Given the description of an element on the screen output the (x, y) to click on. 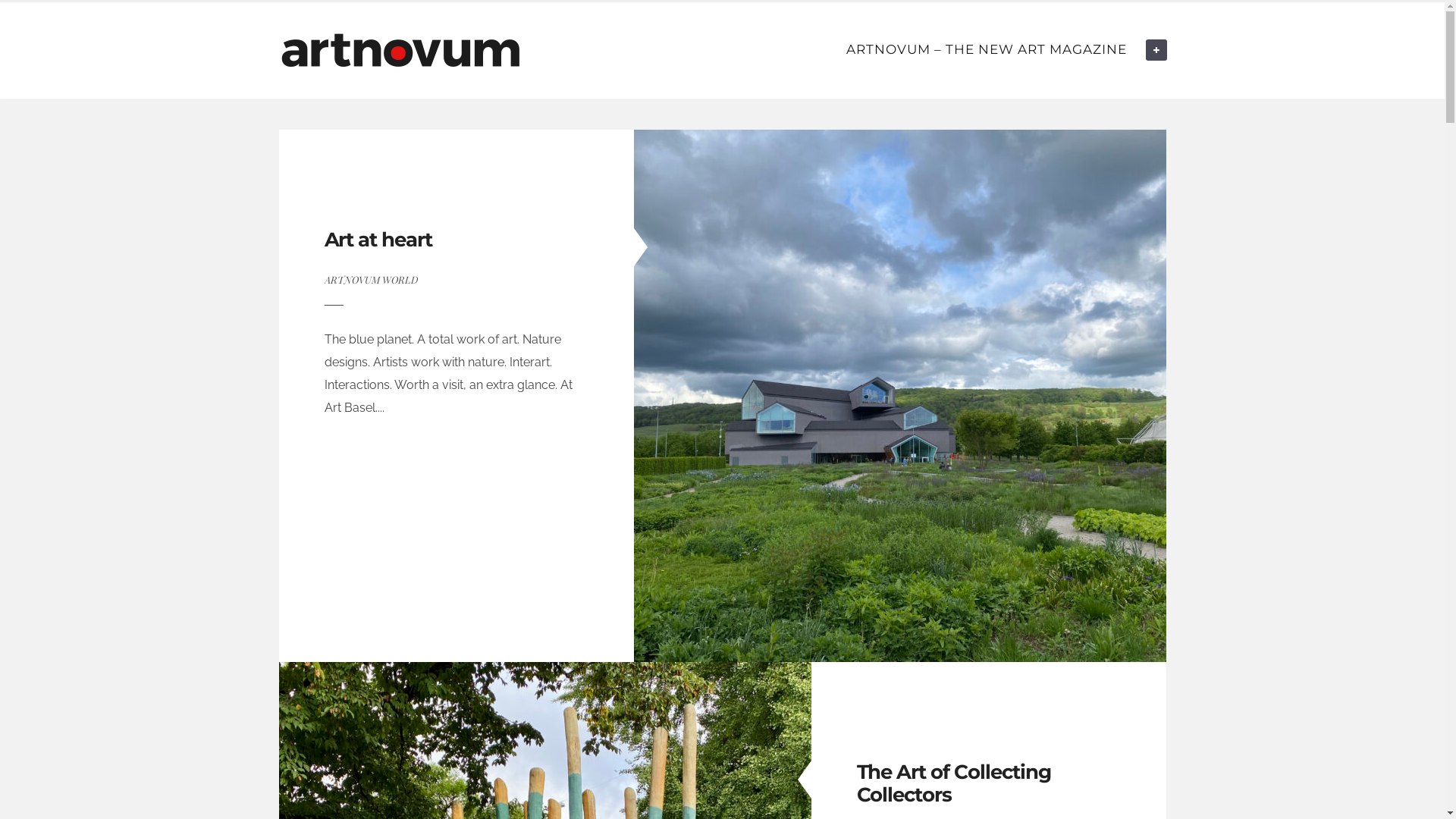
The Art of Collecting Collectors Element type: text (953, 782)
Art at heart Element type: text (378, 239)
ARTNOVUM WORLD Element type: text (370, 279)
